Given the description of an element on the screen output the (x, y) to click on. 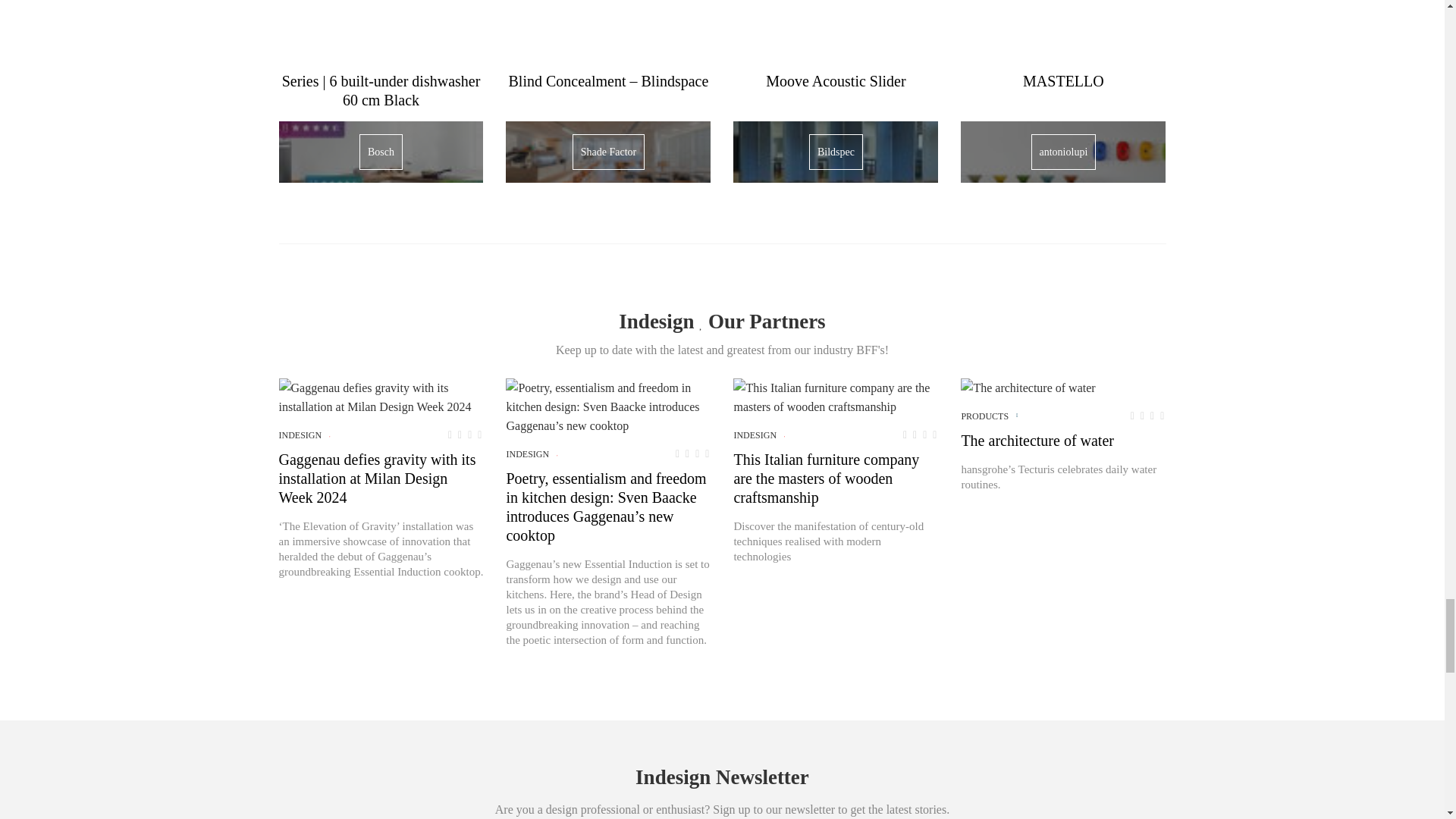
The architecture of water (1027, 387)
